Given the description of an element on the screen output the (x, y) to click on. 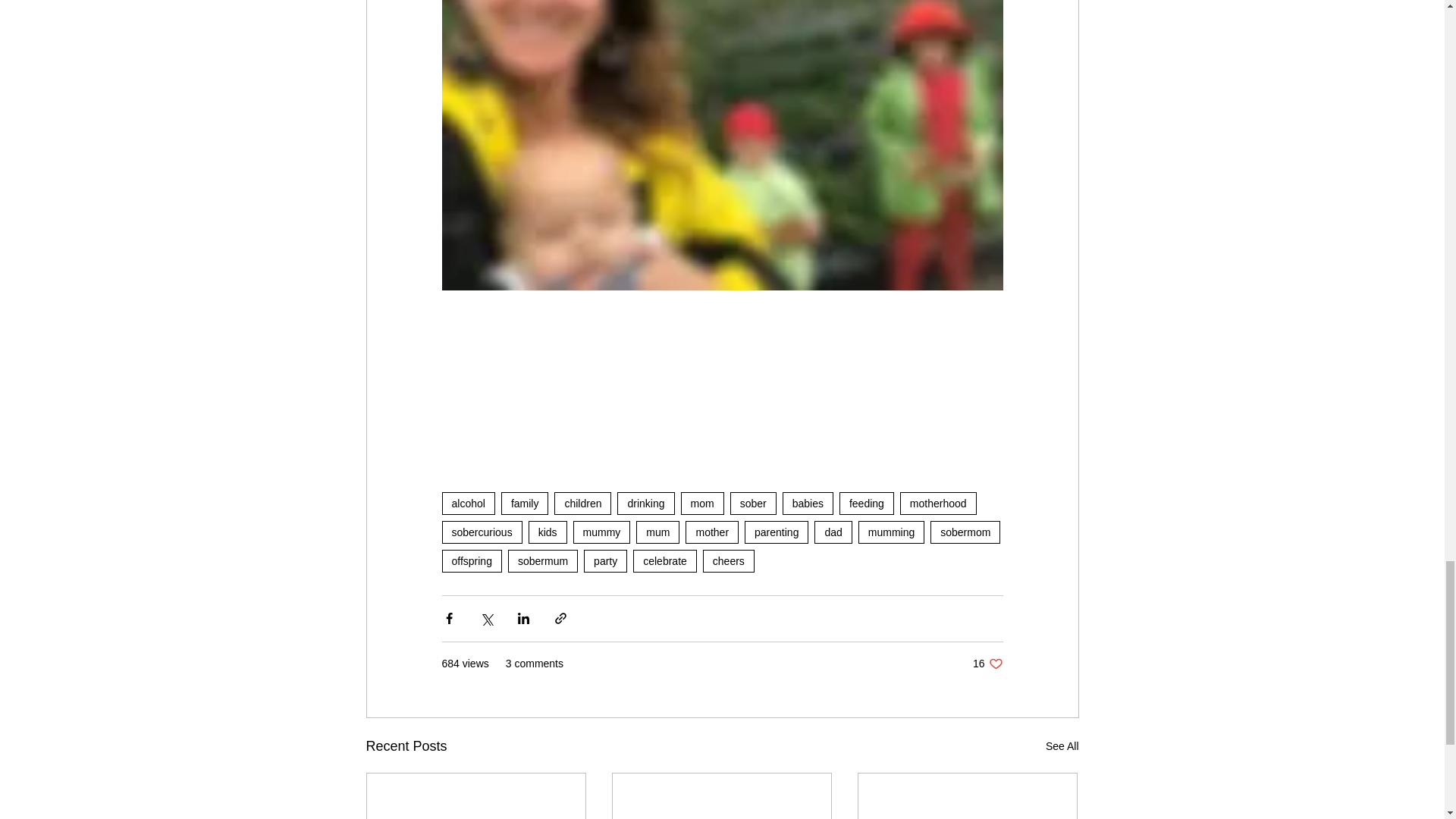
family (524, 503)
sober (753, 503)
feeding (866, 503)
alcohol (468, 503)
kids (547, 531)
motherhood (937, 503)
mom (702, 503)
drinking (645, 503)
sobercurious (481, 531)
children (582, 503)
